Given the description of an element on the screen output the (x, y) to click on. 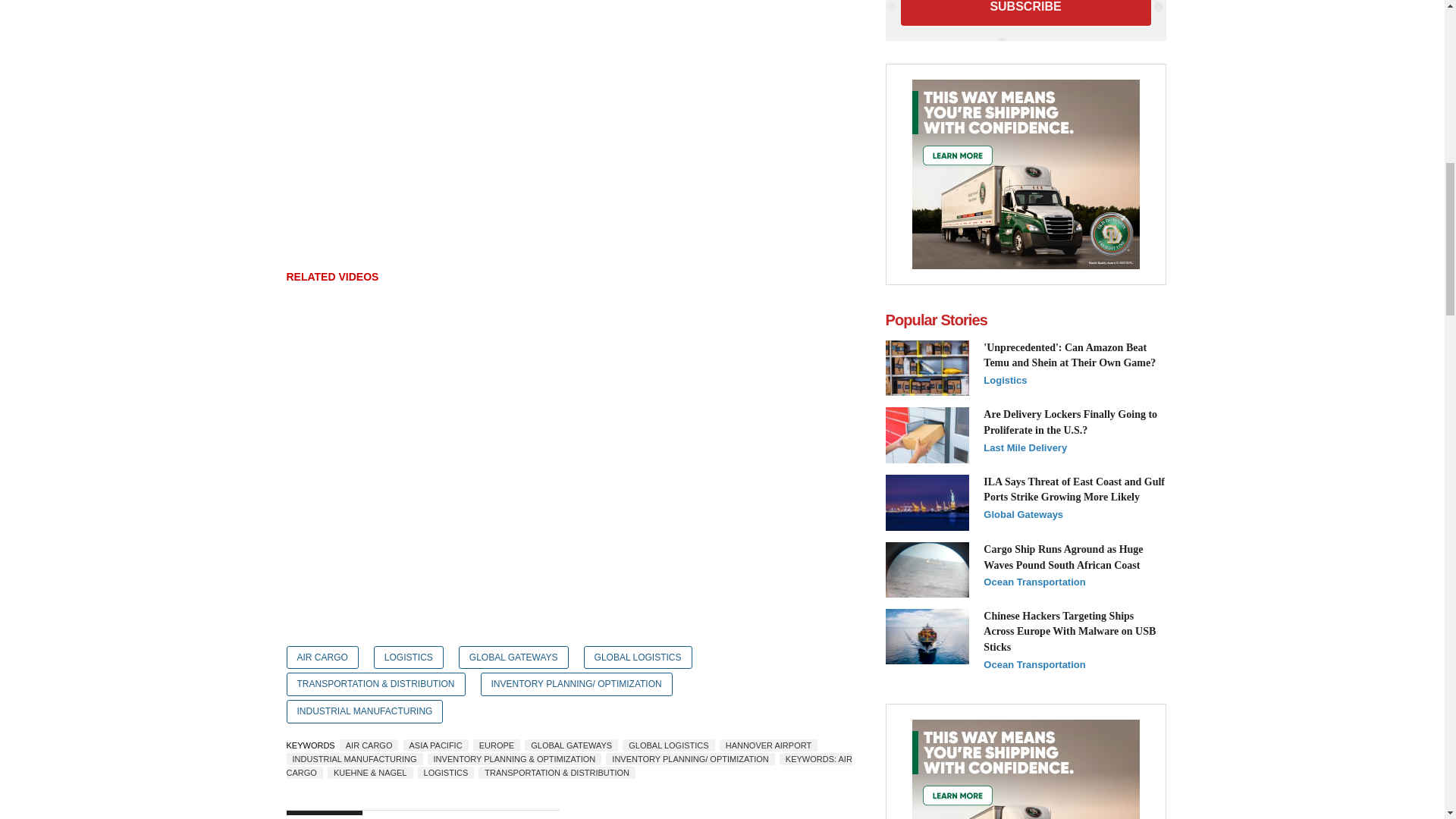
Old Dominion (1024, 174)
cargo-ship-iStock-1284416170.jpg (927, 637)
Old Dominion (1024, 769)
Subscribe (1026, 12)
amazon-packages-iStock-1044973280.jpg (927, 368)
south-africa-ship-aground-SAMSA.png (927, 569)
